Given the description of an element on the screen output the (x, y) to click on. 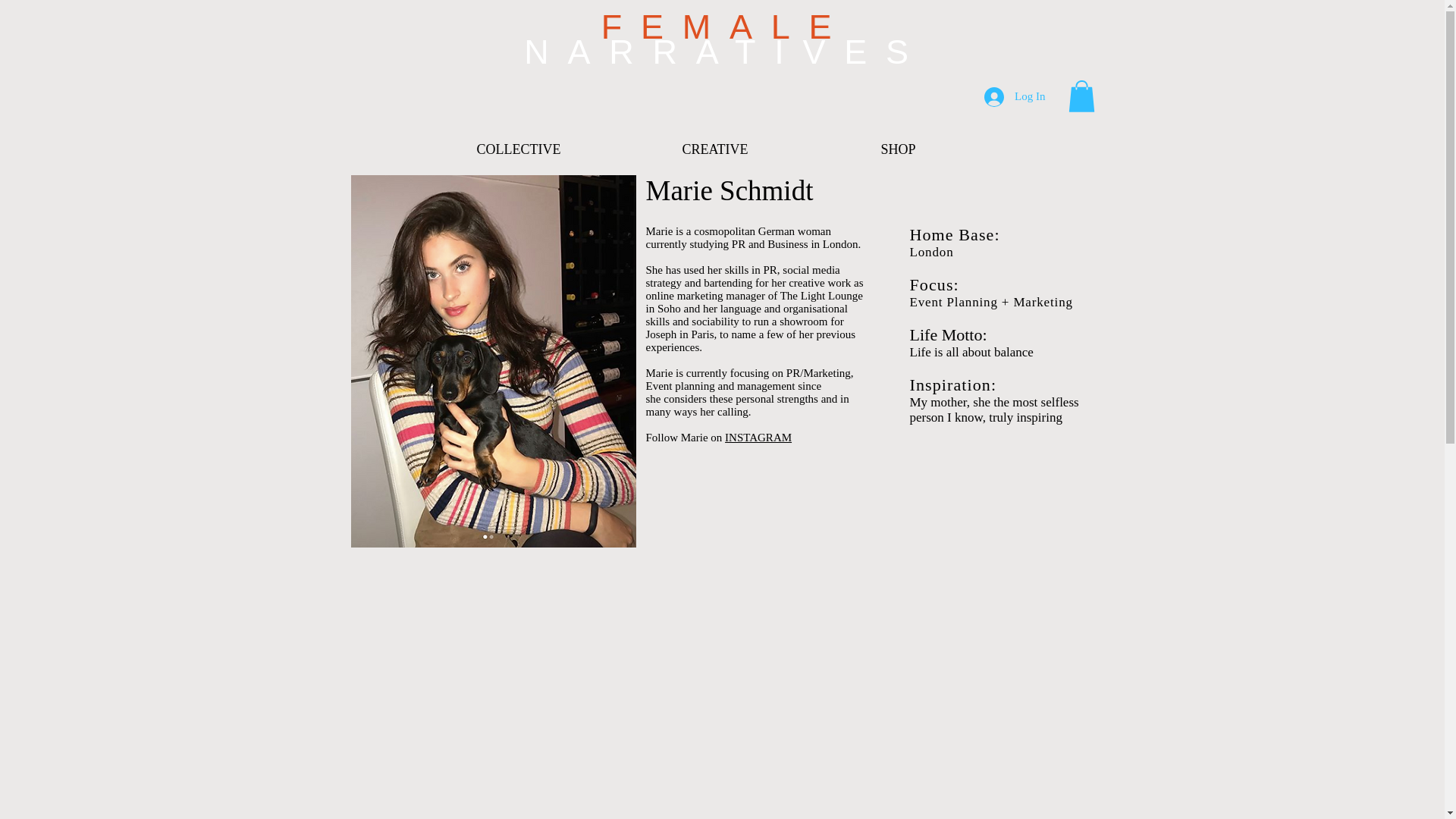
COLLECTIVE (470, 149)
NARRATIVES (725, 52)
SHOP (843, 149)
Log In (1014, 95)
FEMALE (725, 26)
CREATIVE (665, 149)
INSTAGRAM (758, 437)
